Given the description of an element on the screen output the (x, y) to click on. 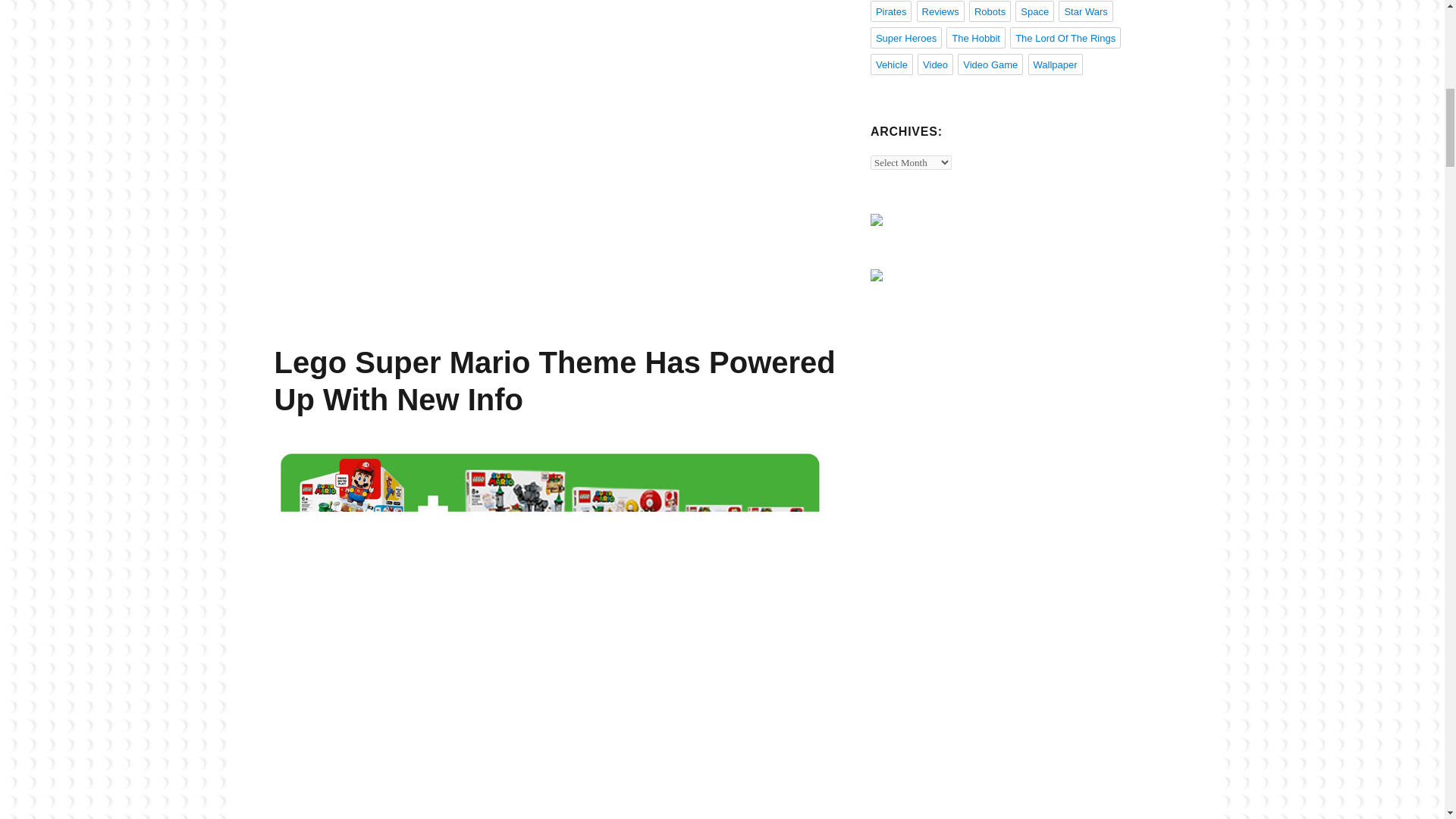
Lego Super Mario Theme Has Powered Up With New Info (555, 380)
